Given the description of an element on the screen output the (x, y) to click on. 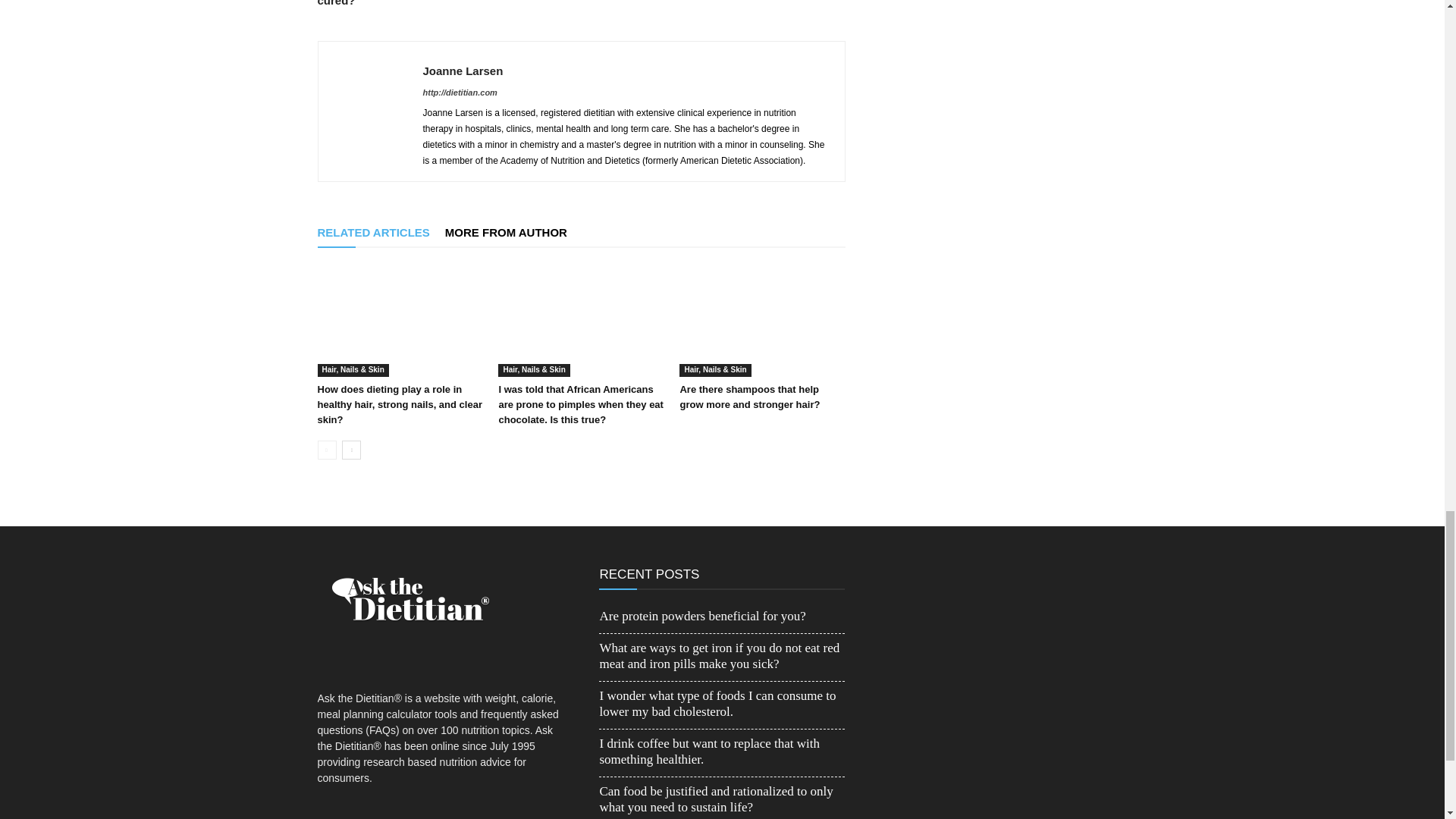
Are there shampoos that help grow more and stronger hair? (761, 319)
Are there shampoos that help grow more and stronger hair? (749, 397)
